Given the description of an element on the screen output the (x, y) to click on. 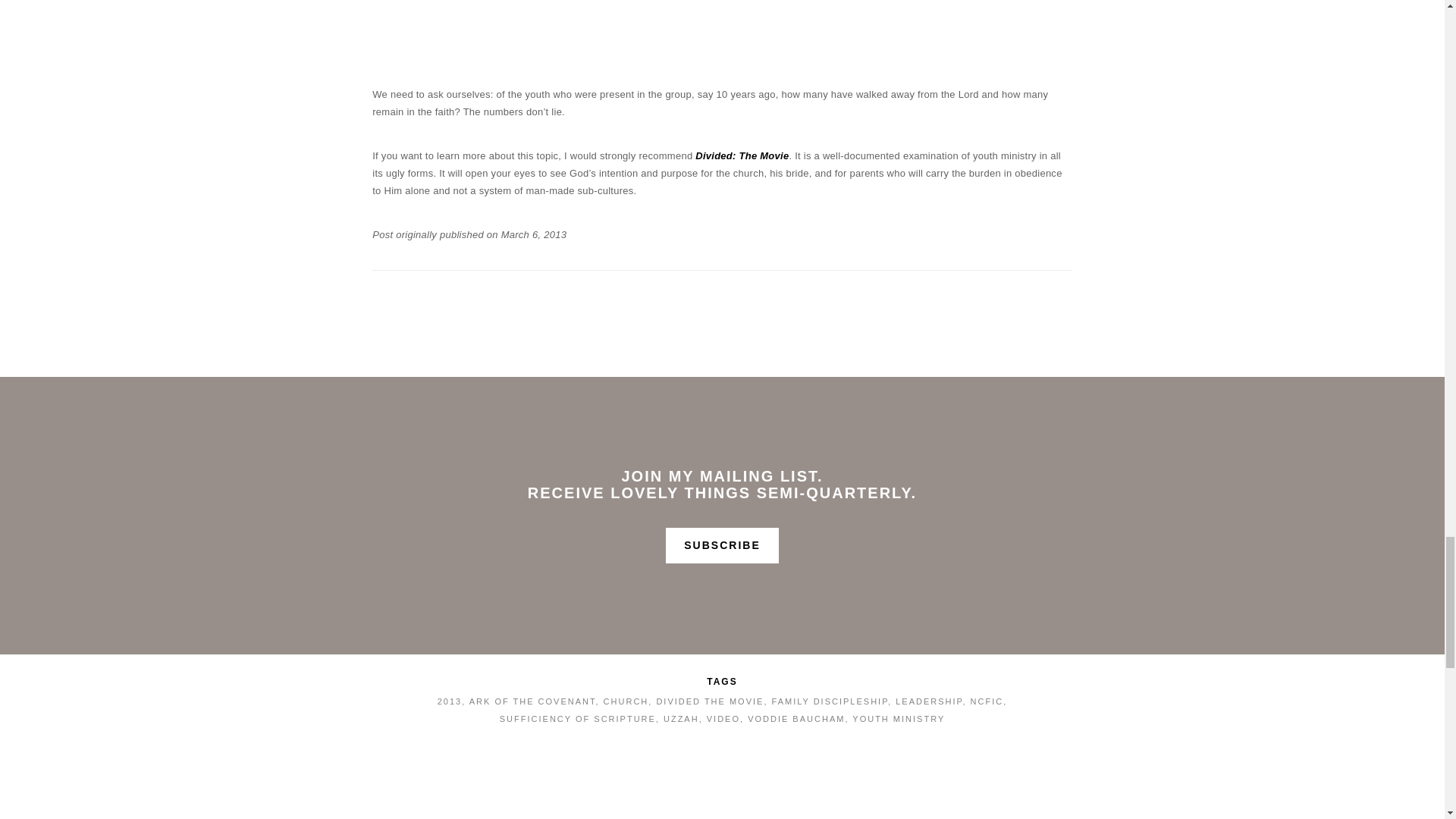
NCFIC (987, 700)
Vimeo (846, 6)
VODDIE BAUCHAM (796, 718)
ARK OF THE COVENANT (531, 700)
VIDEO (722, 718)
LEADERSHIP (928, 700)
FAMILY DISCIPLESHIP (829, 700)
NCFIC (799, 6)
SUFFICIENCY OF SCRIPTURE (577, 718)
CHURCH (626, 700)
YOUTH MINISTRY (897, 718)
UZZAH (680, 718)
Divided: The Movie (742, 155)
2013 (449, 700)
SUBSCRIBE (721, 545)
